Given the description of an element on the screen output the (x, y) to click on. 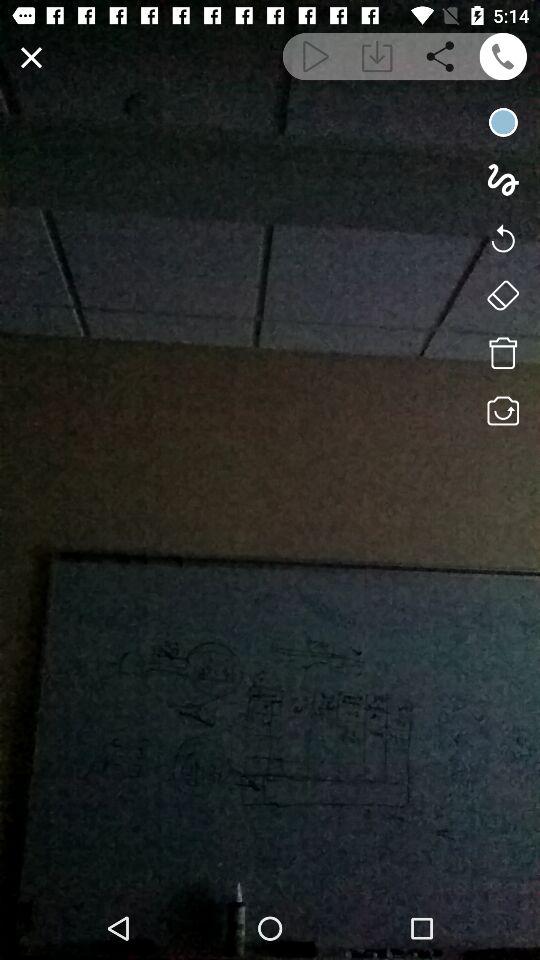
close (31, 57)
